Given the description of an element on the screen output the (x, y) to click on. 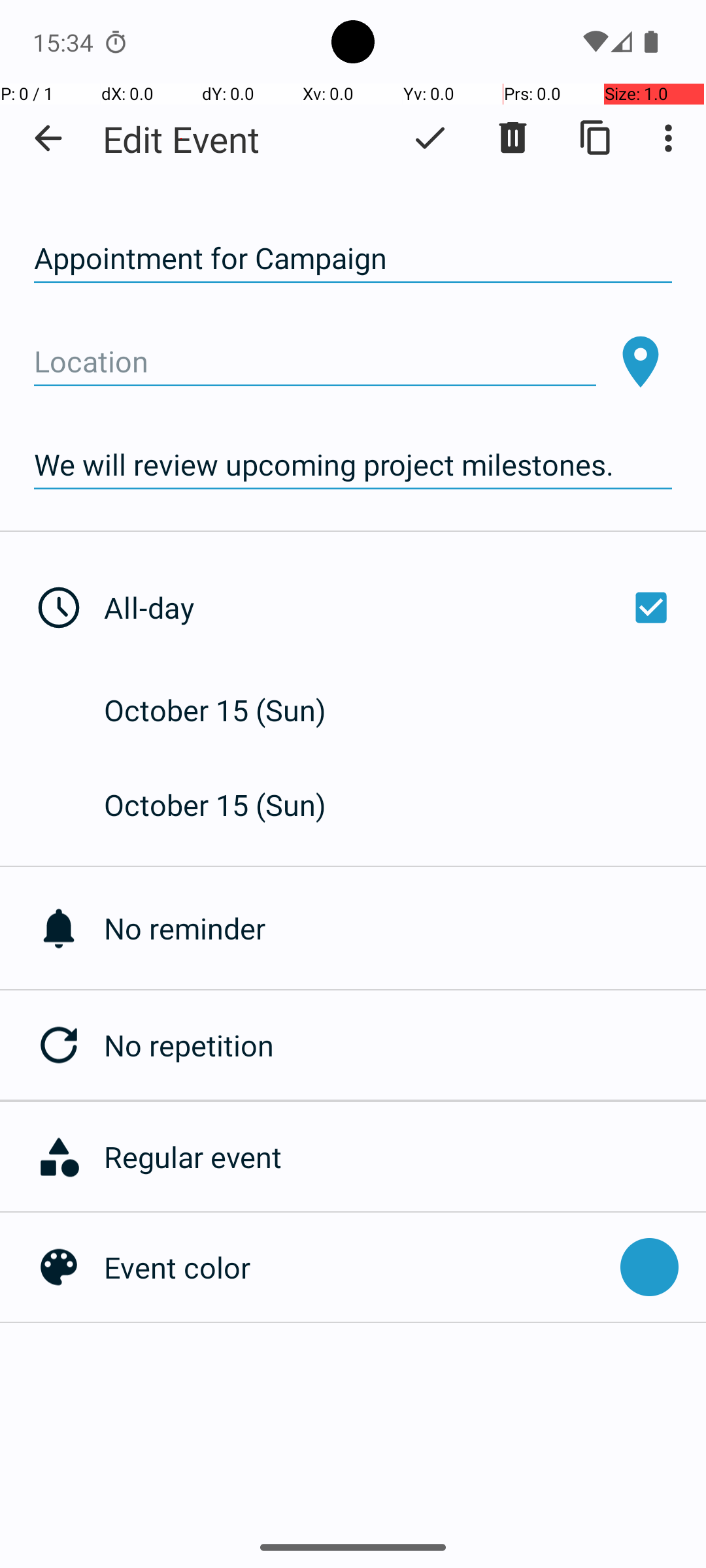
We will review upcoming project milestones. Element type: android.widget.EditText (352, 465)
